Given the description of an element on the screen output the (x, y) to click on. 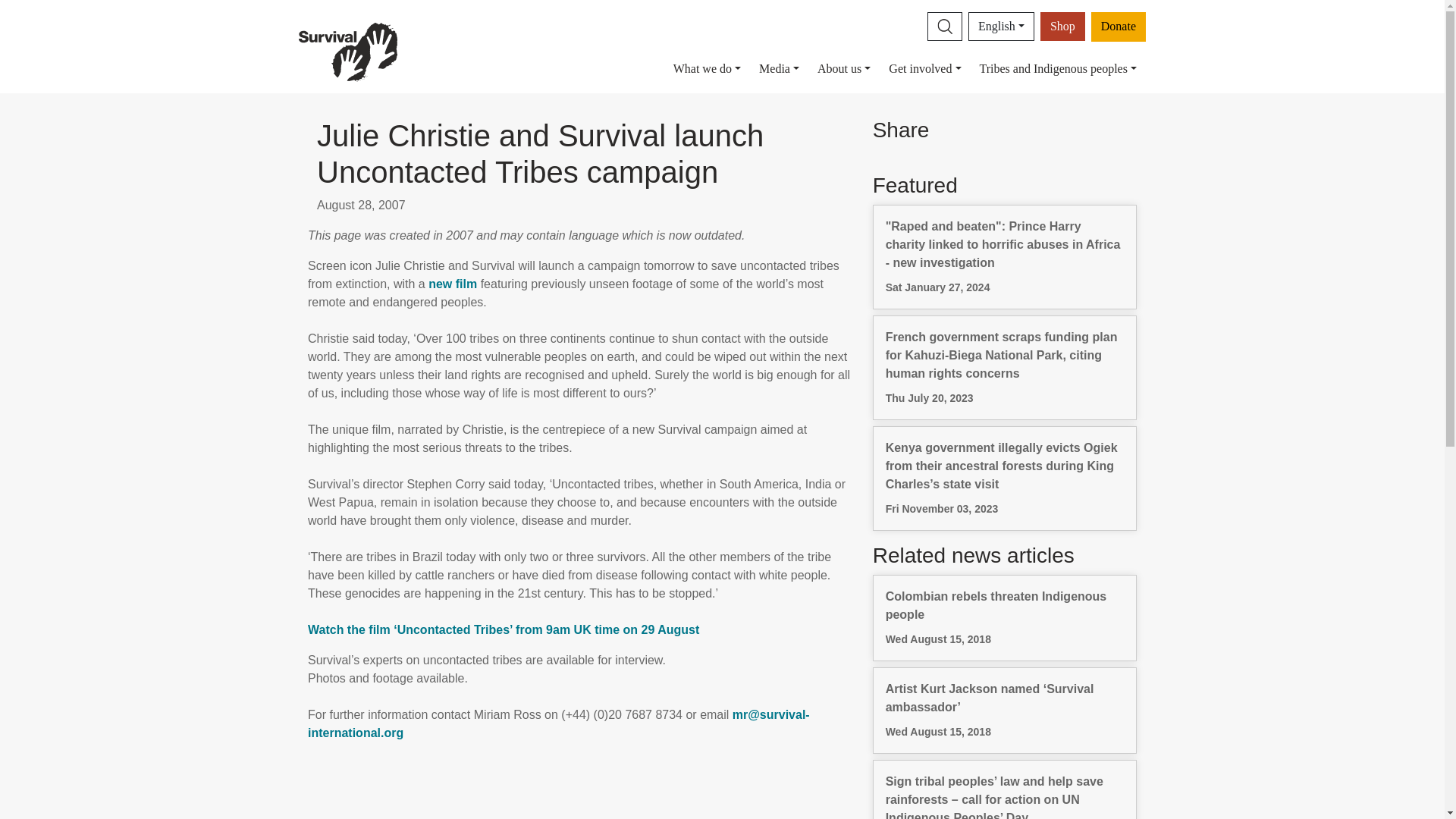
Survival International (347, 50)
